Given the description of an element on the screen output the (x, y) to click on. 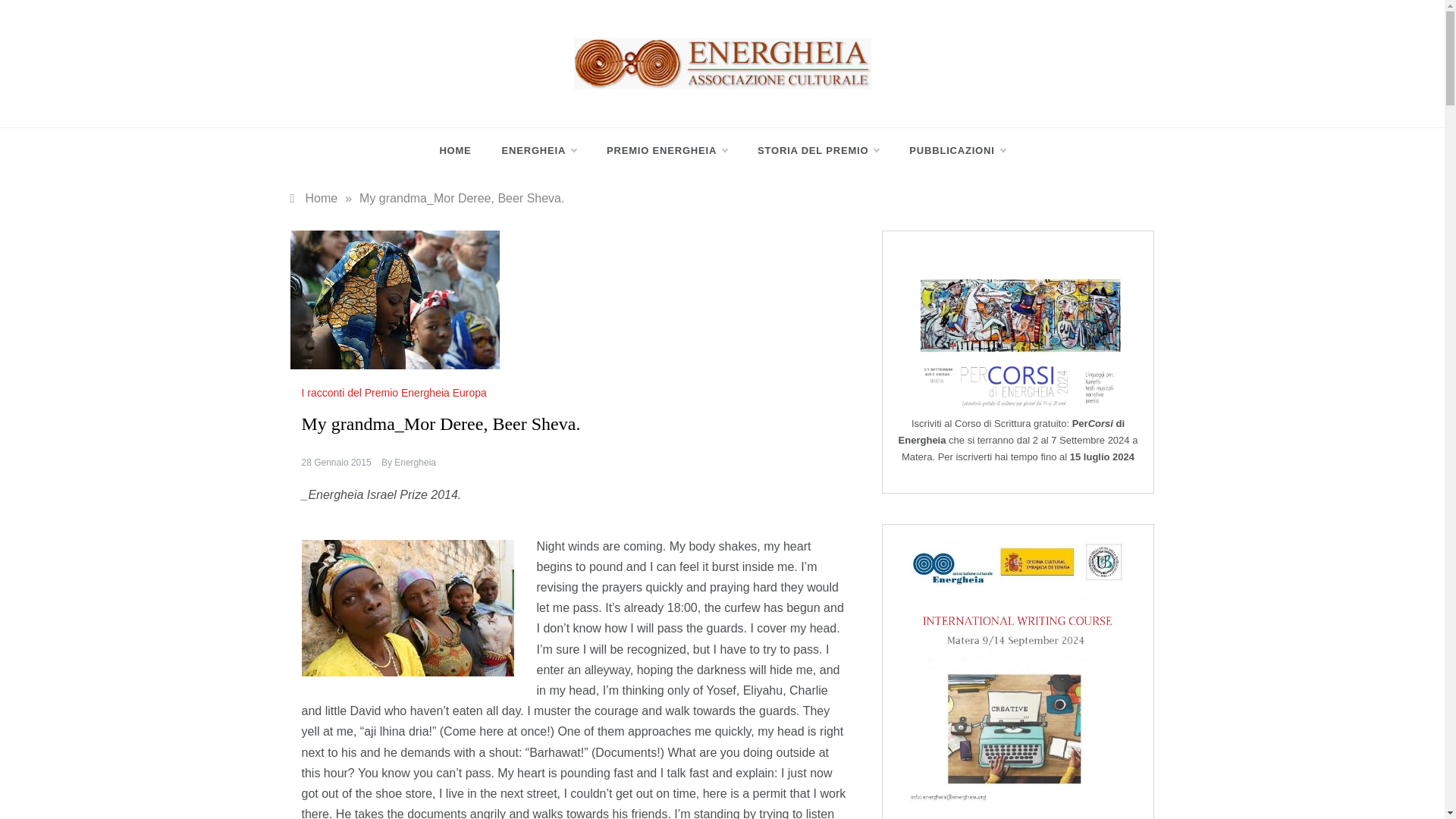
Energheia (614, 101)
PREMIO ENERGHEIA (666, 150)
HOME (462, 150)
STORIA DEL PREMIO (817, 150)
ENERGHEIA (539, 150)
